Given the description of an element on the screen output the (x, y) to click on. 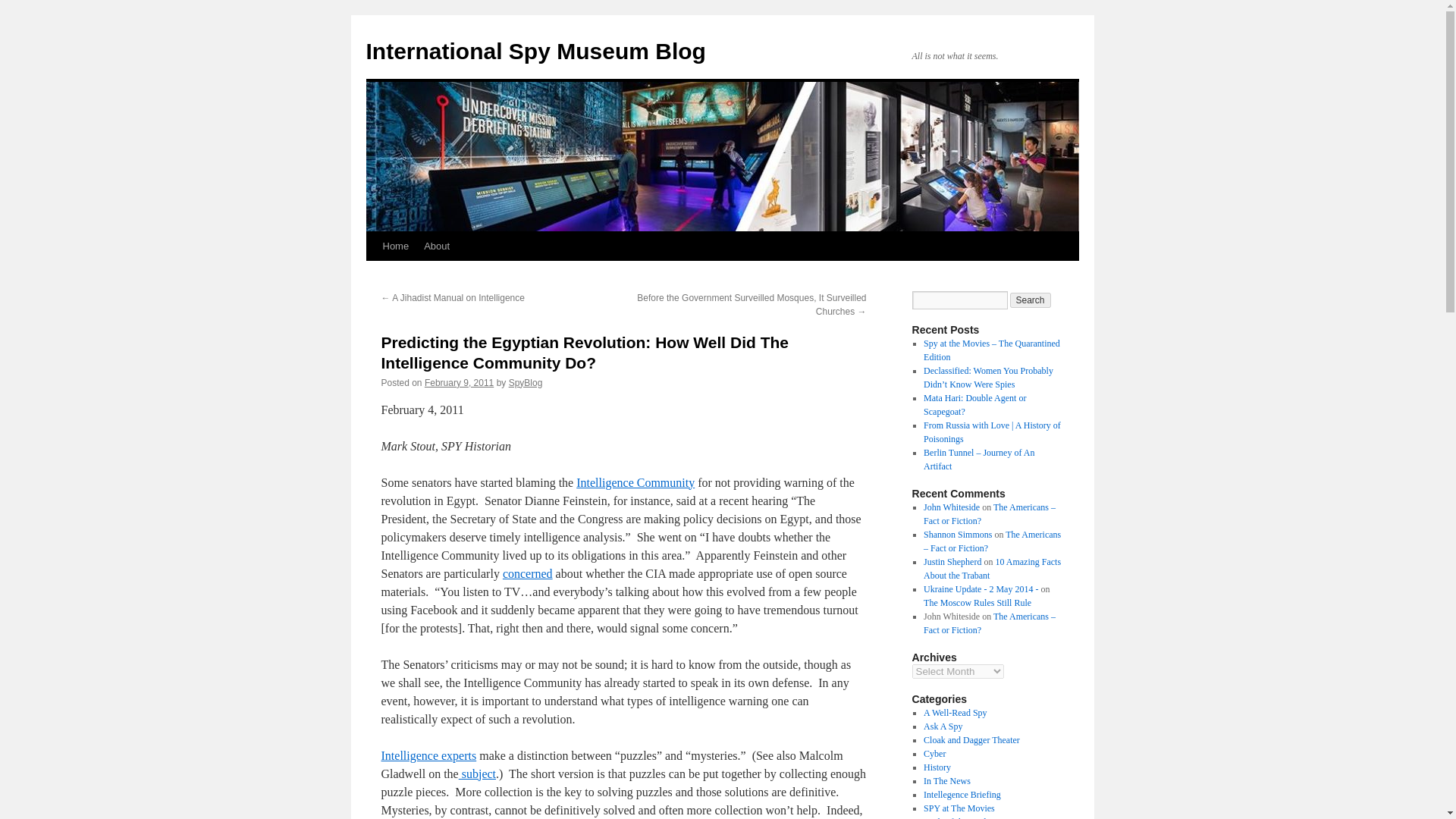
John Whiteside (951, 507)
10 Amazing Facts About the Trabant (992, 568)
About (436, 246)
Cloak and Dagger Theater (971, 739)
Intelligence experts (428, 755)
Ukraine Update - 2 May 2014 - (980, 588)
Shannon Simmons (957, 534)
International Spy Museum Blog (534, 50)
Home (395, 246)
Mata Hari: Double Agent or Scapegoat? (974, 404)
